Given the description of an element on the screen output the (x, y) to click on. 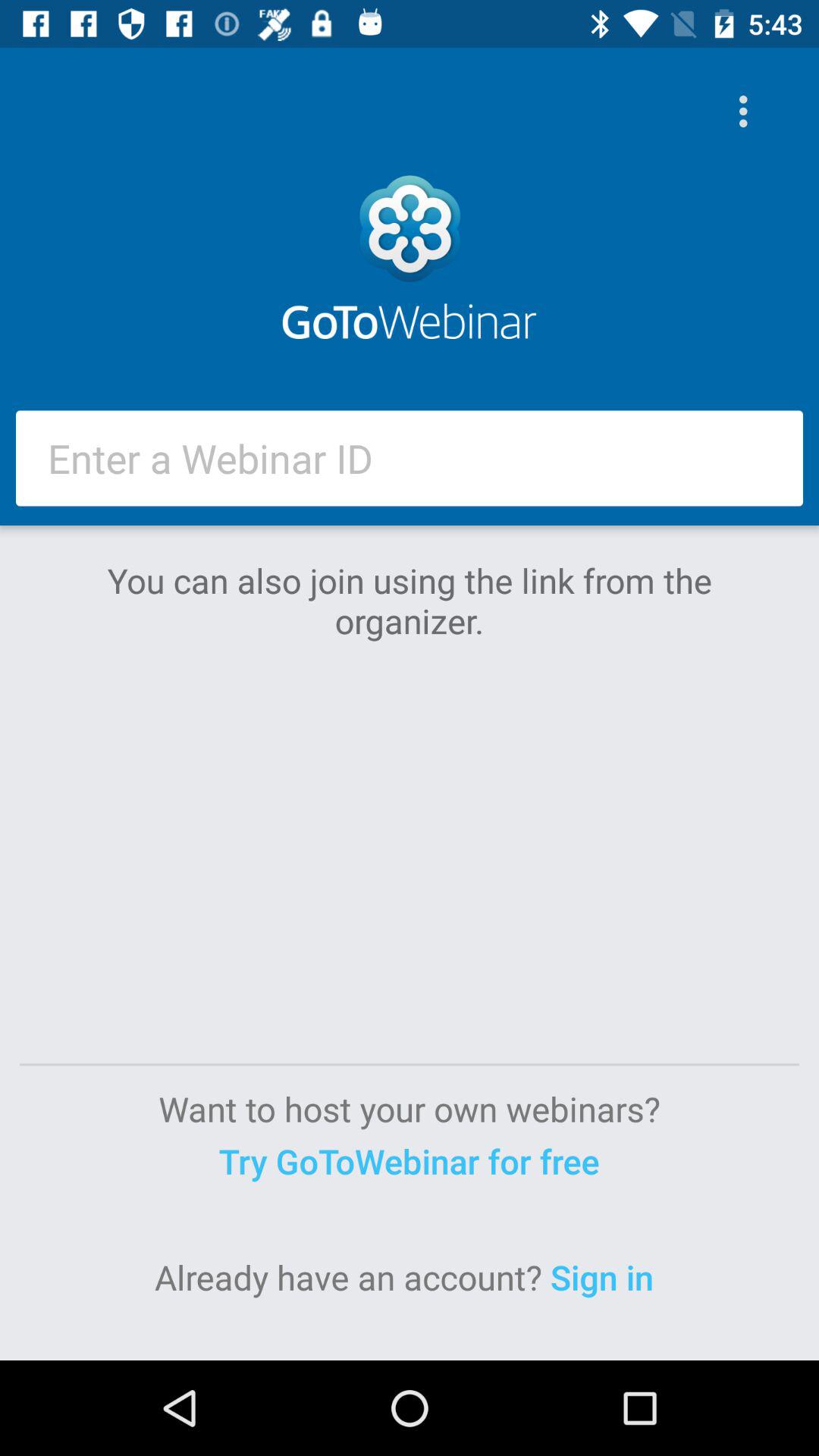
select the item above the sign in icon (408, 1161)
